Given the description of an element on the screen output the (x, y) to click on. 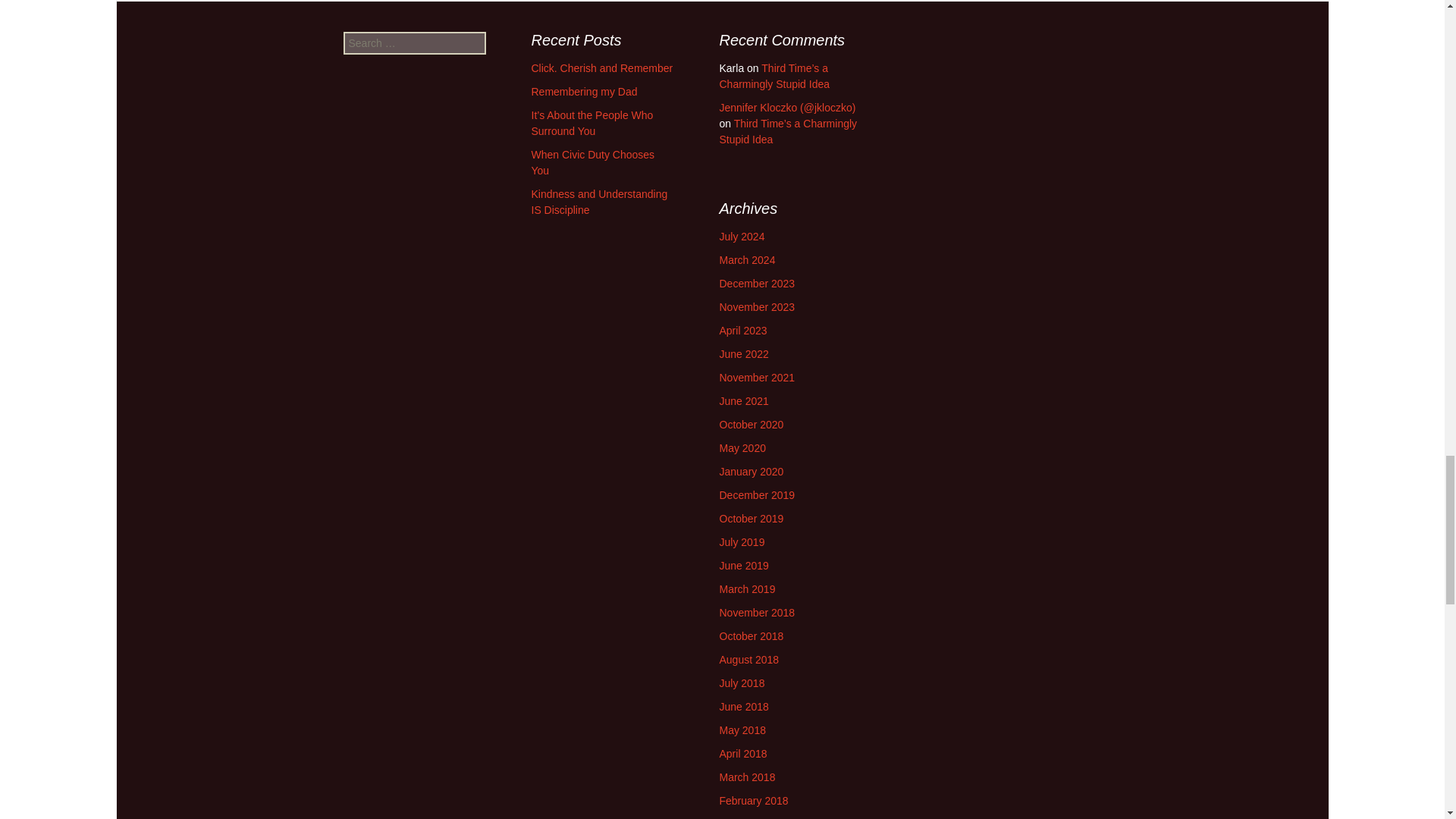
When Civic Duty Chooses You (592, 162)
April 2023 (743, 330)
December 2023 (756, 283)
March 2024 (746, 259)
November 2023 (756, 306)
Kindness and Understanding IS Discipline (598, 202)
Remembering my Dad (584, 91)
June 2022 (743, 354)
Click. Cherish and Remember (601, 68)
July 2024 (741, 236)
